Given the description of an element on the screen output the (x, y) to click on. 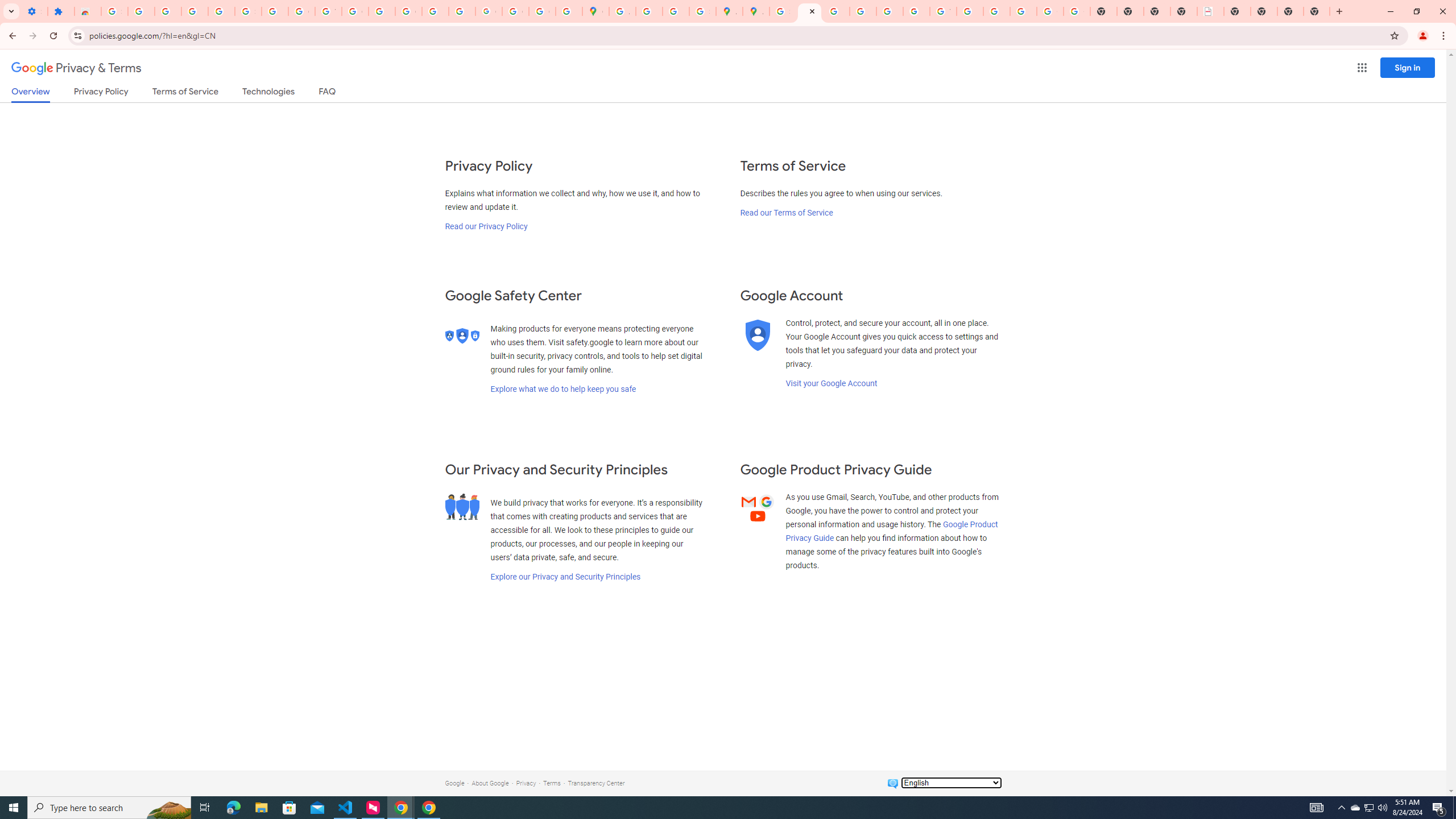
Sign in - Google Accounts (114, 11)
Privacy Help Center - Policies Help (862, 11)
Privacy Help Center - Policies Help (836, 11)
Google Product Privacy Guide (891, 530)
